Given the description of an element on the screen output the (x, y) to click on. 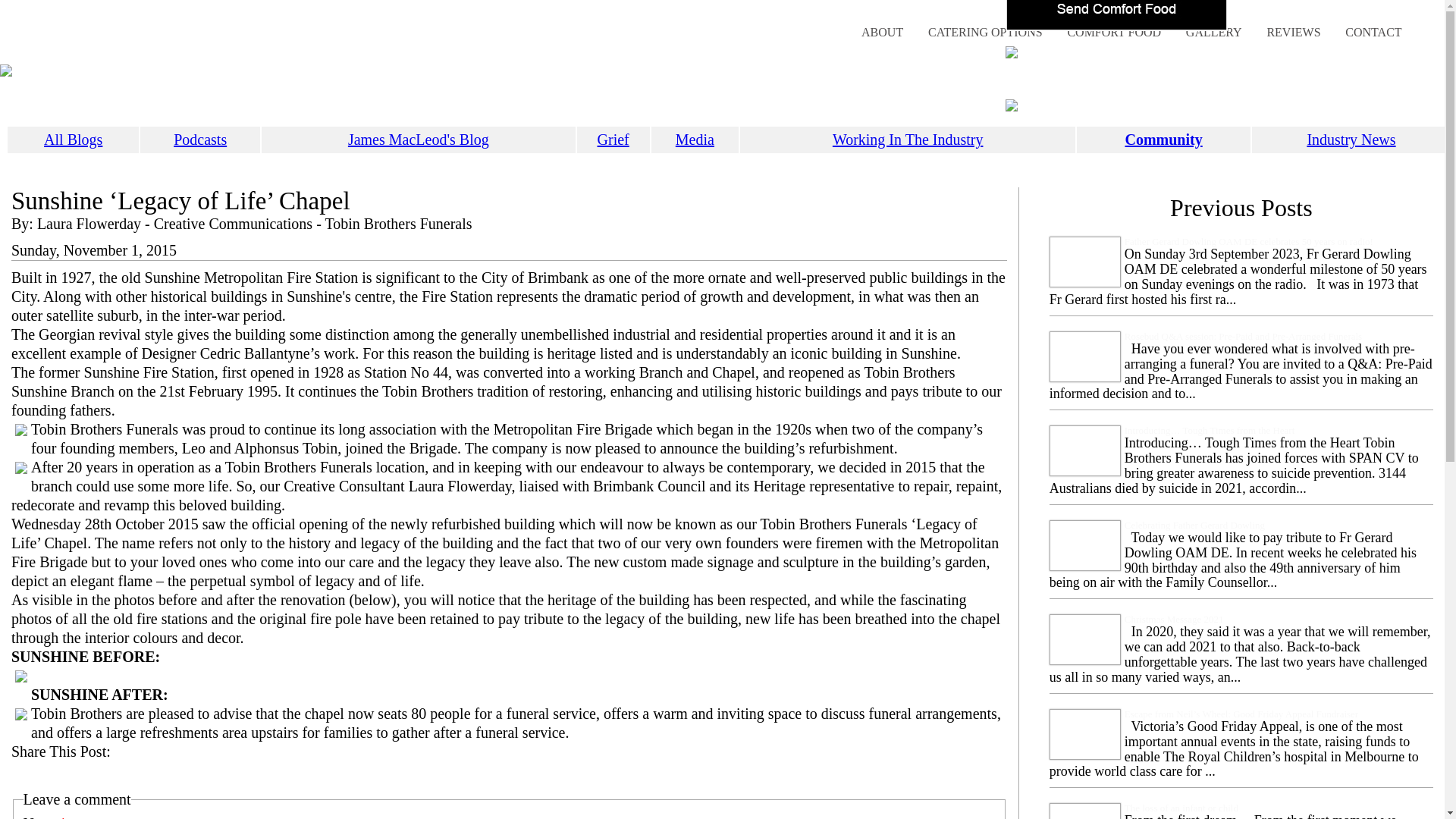
CONTACT Element type: text (1372, 31)
Industry News Element type: text (1351, 139)
REVIEWS Element type: text (1293, 31)
COMFORT FOOD Element type: text (1113, 31)
Christmas Message 2021 Element type: text (1173, 618)
Podcasts Element type: text (199, 139)
Facebook Element type: hover (23, 773)
Rosebud Q&A session: Pre-Paid and Pre-Arranged Funerals Element type: text (1242, 336)
James MacLeod's Blog Element type: text (418, 139)
Media Element type: text (695, 139)
The loss of an infant or child Element type: text (1181, 807)
CATERING OPTIONS Element type: text (985, 31)
ABOUT Element type: text (882, 31)
Working In The Industry Element type: text (907, 139)
Celebrating Father Gerard Dowling Element type: text (1194, 524)
Grief Element type: text (613, 139)
Father Gerard Dowling OAM DE celebrates 50 years on radio! Element type: text (1248, 241)
Community Element type: text (1163, 139)
GALLERY Element type: text (1213, 31)
All Blogs Element type: text (72, 139)
Twitter Element type: hover (51, 773)
